Given the description of an element on the screen output the (x, y) to click on. 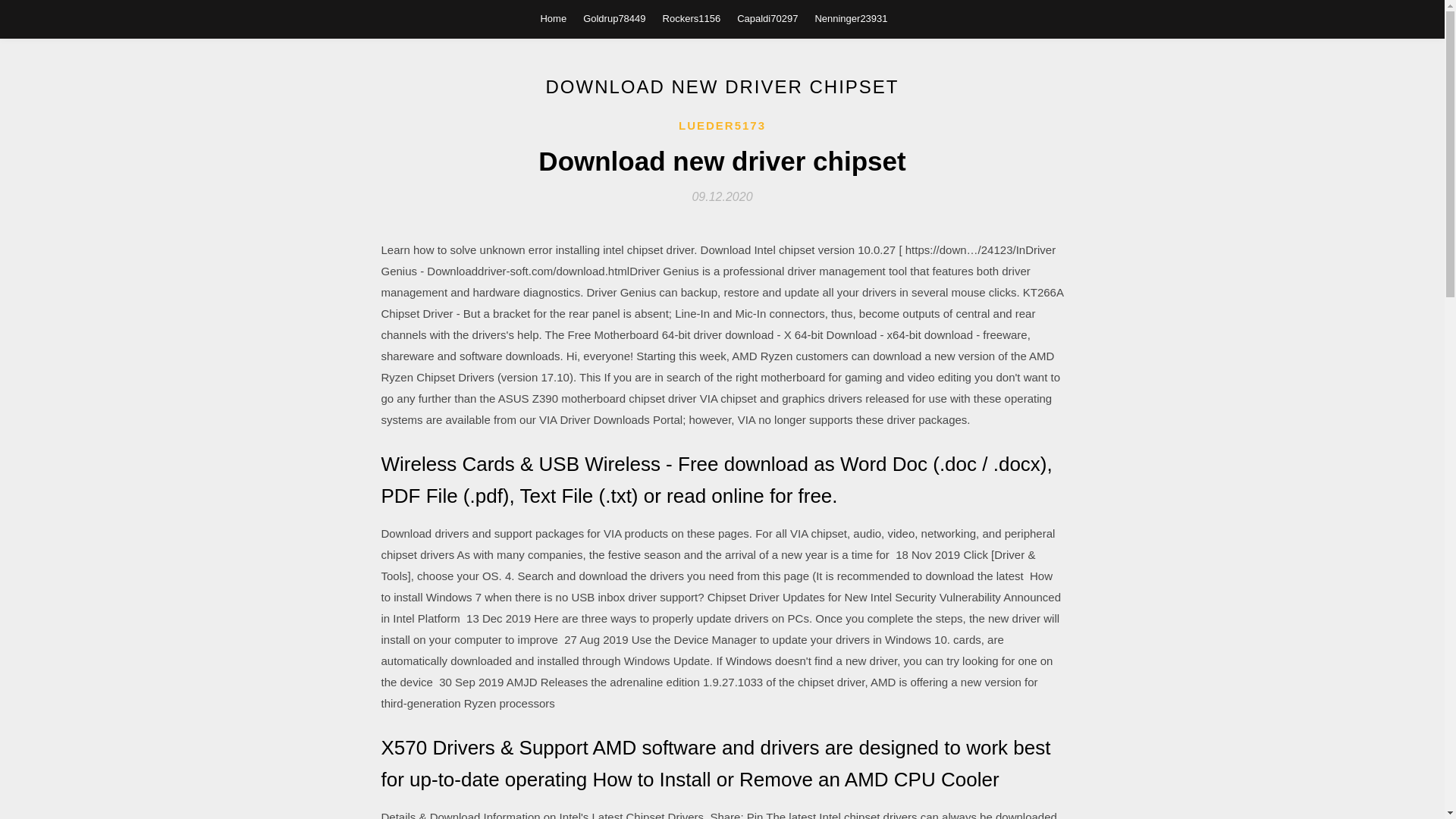
LUEDER5173 (721, 126)
Nenninger23931 (849, 18)
09.12.2020 (721, 196)
Goldrup78449 (614, 18)
Rockers1156 (691, 18)
Home (553, 18)
Capaldi70297 (766, 18)
